Given the description of an element on the screen output the (x, y) to click on. 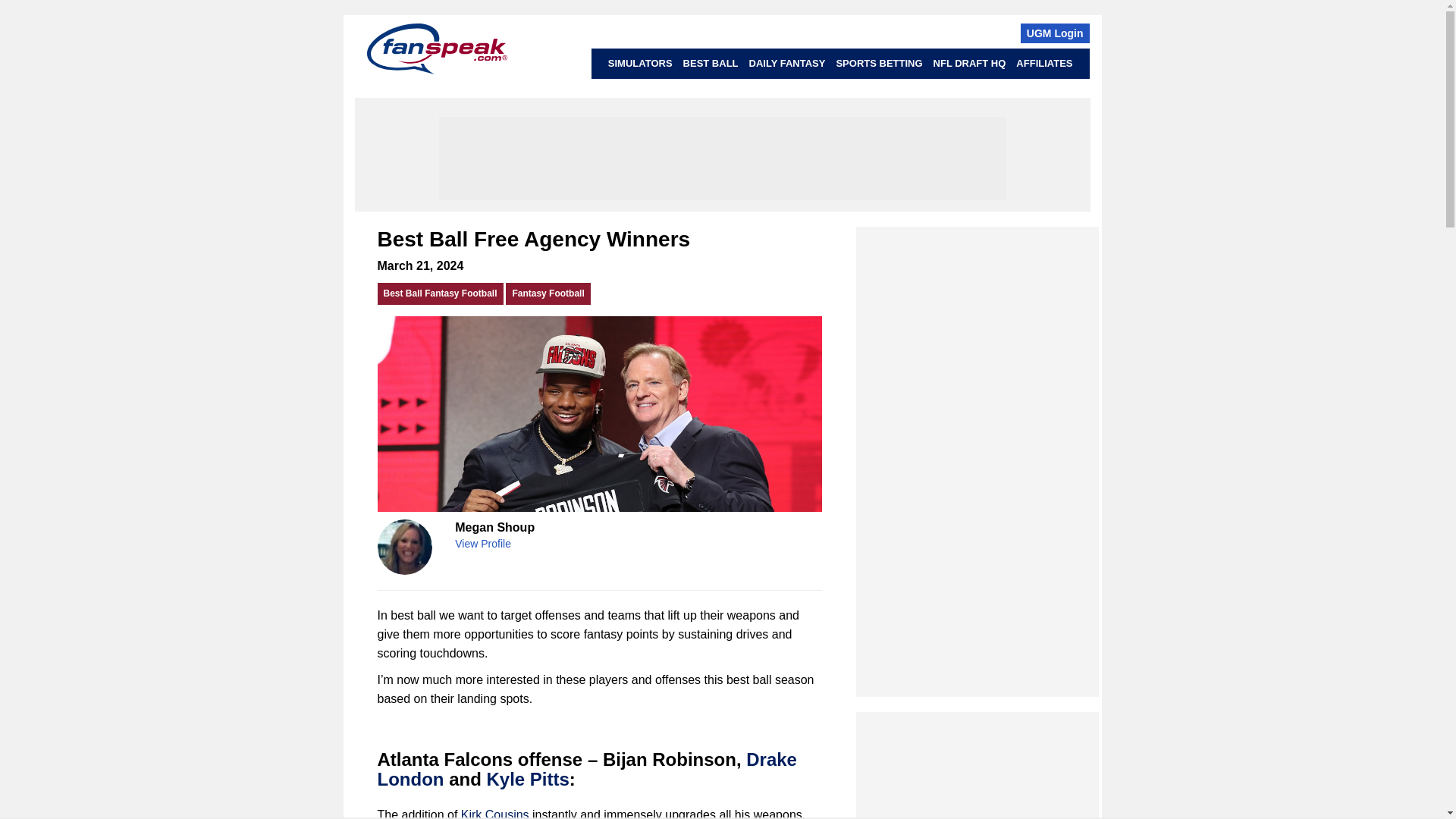
Drake London (586, 769)
NFL DRAFT HQ (969, 63)
Simulators (640, 63)
Affiliates (1043, 63)
NFL Draft HQ (969, 63)
DAILY FANTASY (787, 63)
SIMULATORS (640, 63)
View Profile (482, 543)
Kyle Pitts (527, 779)
Kirk Cousins (495, 813)
Fantasy Football (547, 293)
Best Ball Fantasy Football (440, 293)
UGM Login (1054, 33)
Sports Betting (878, 63)
SPORTS BETTING (878, 63)
